Given the description of an element on the screen output the (x, y) to click on. 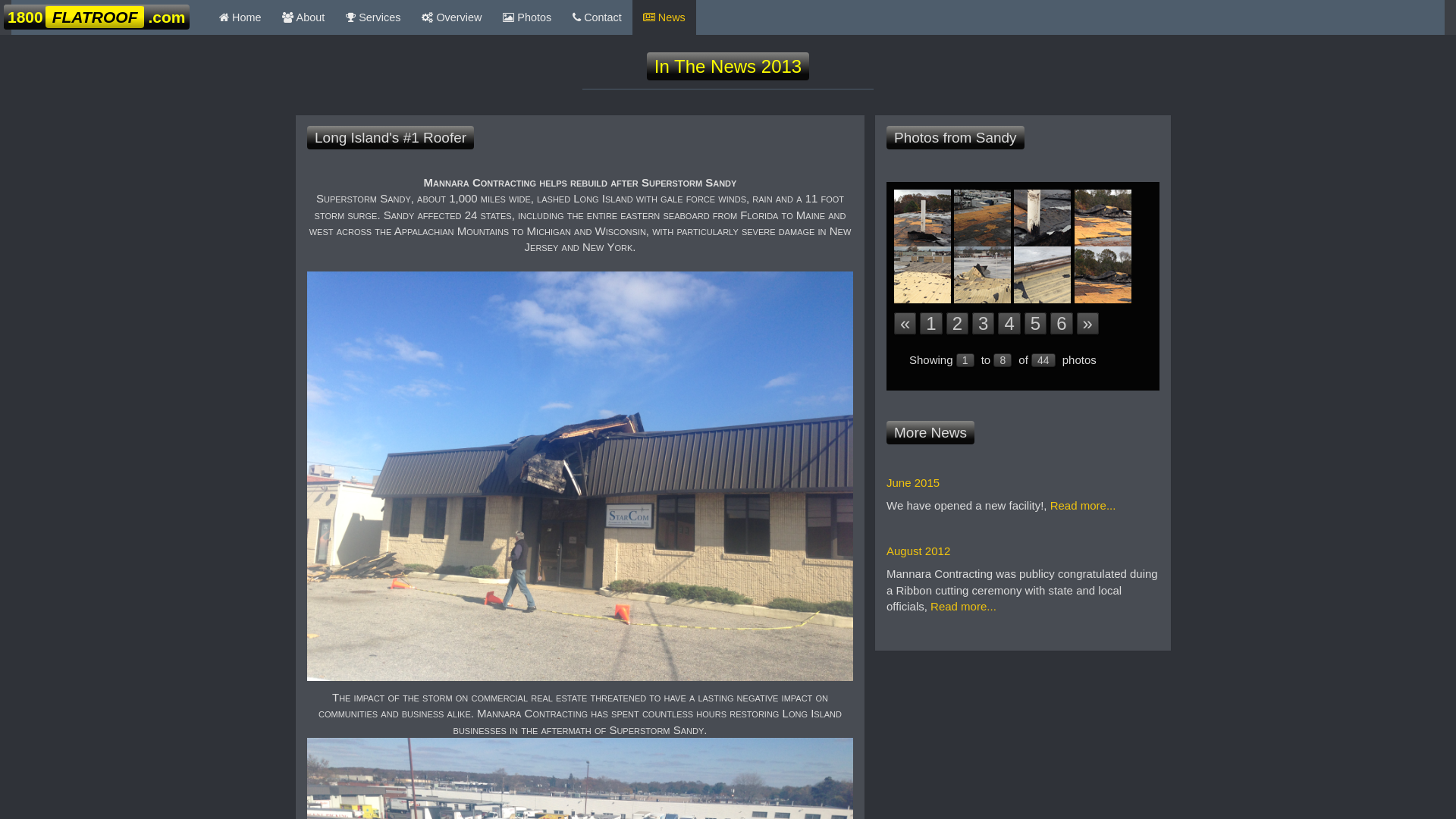
 News Element type: text (664, 17)
2 Element type: text (957, 323)
1800Flatroof.com on the  job Element type: hover (1102, 216)
Read more... Element type: text (963, 605)
4 Element type: text (1008, 323)
1800FLATROOF.com   Element type: text (96, 17)
1800Flatroof.com on the  job Element type: hover (923, 216)
6 Element type: text (1061, 323)
 About Element type: text (303, 17)
3 Element type: text (983, 323)
June 2015 Element type: text (912, 482)
1800Flatroof.com on the  job Element type: hover (983, 216)
 Photos Element type: text (526, 17)
1800Flatroof.com on the  job Element type: hover (1102, 272)
Read more... Element type: text (1083, 504)
August 2012 Element type: text (918, 550)
 Overview Element type: text (451, 17)
1800Flatroof.com on the  job Element type: hover (1043, 272)
5 Element type: text (1035, 323)
 Services Element type: text (373, 17)
1800Flatroof.com on the  job Element type: hover (983, 272)
1800Flatroof.com on the  job Element type: hover (1043, 216)
1800Flatroof.com on the  job Element type: hover (923, 272)
 Home Element type: text (239, 17)
 Contact Element type: text (596, 17)
